Given the description of an element on the screen output the (x, y) to click on. 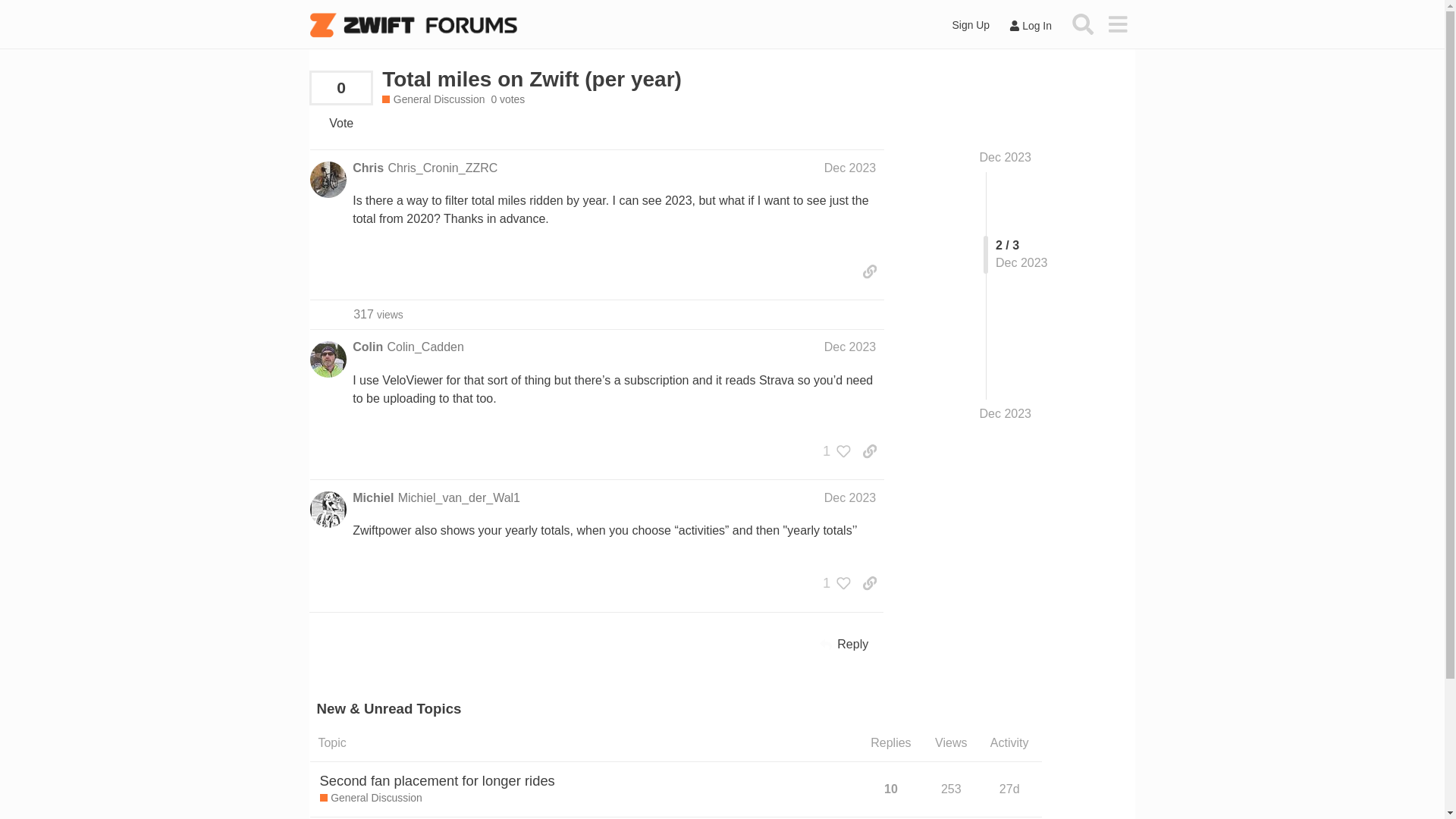
Reply (843, 644)
Log In (1030, 25)
Dec 2023 (850, 346)
General Discussion (371, 798)
1 person liked this post (832, 451)
General Discussion (432, 99)
1 (832, 583)
Sign Up (969, 25)
Jump to the last post (1005, 413)
Jump to the first post (1005, 156)
